Given the description of an element on the screen output the (x, y) to click on. 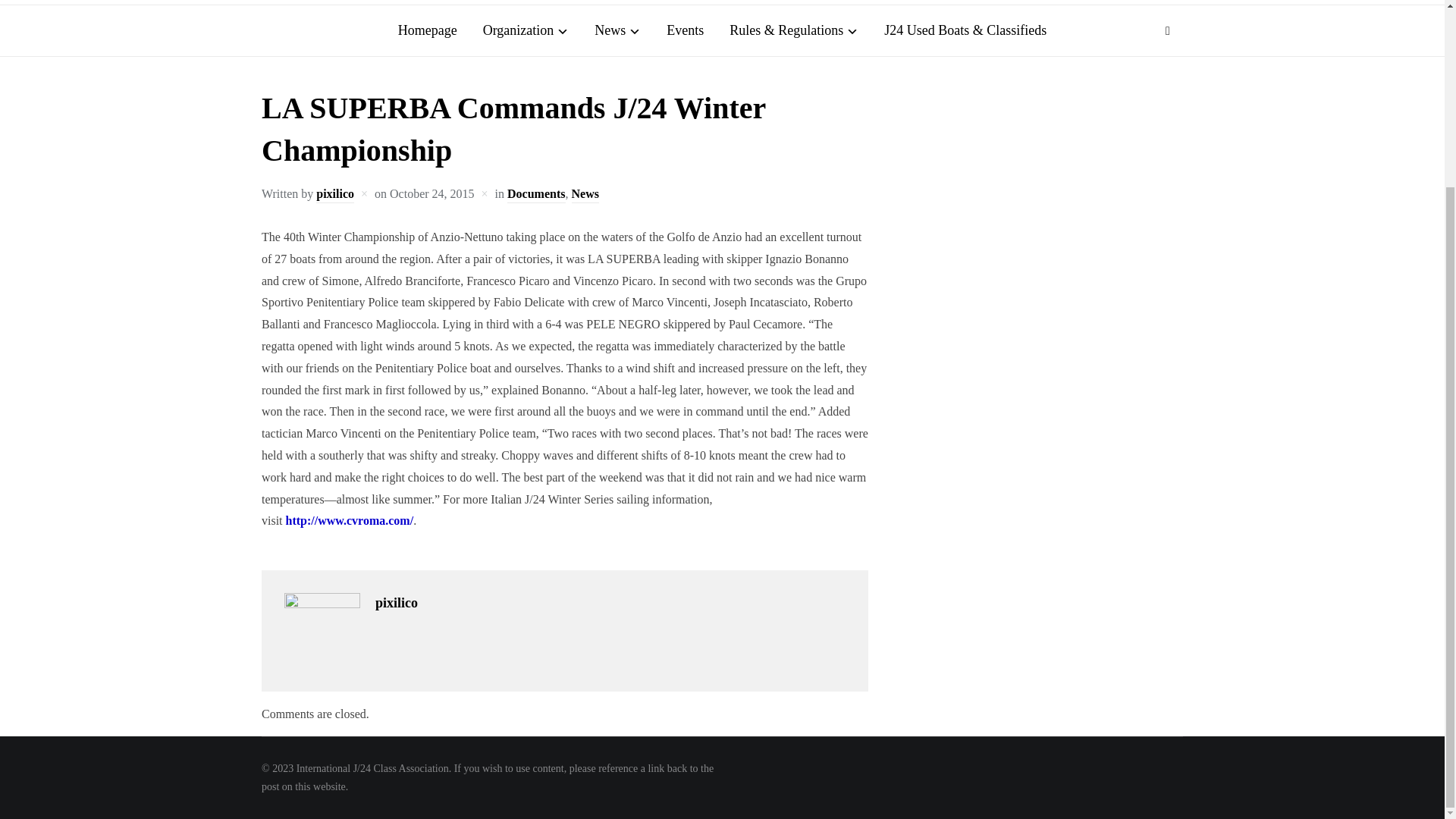
Posts by pixilico (334, 195)
Posts by pixilico (396, 602)
Search (1167, 30)
